Given the description of an element on the screen output the (x, y) to click on. 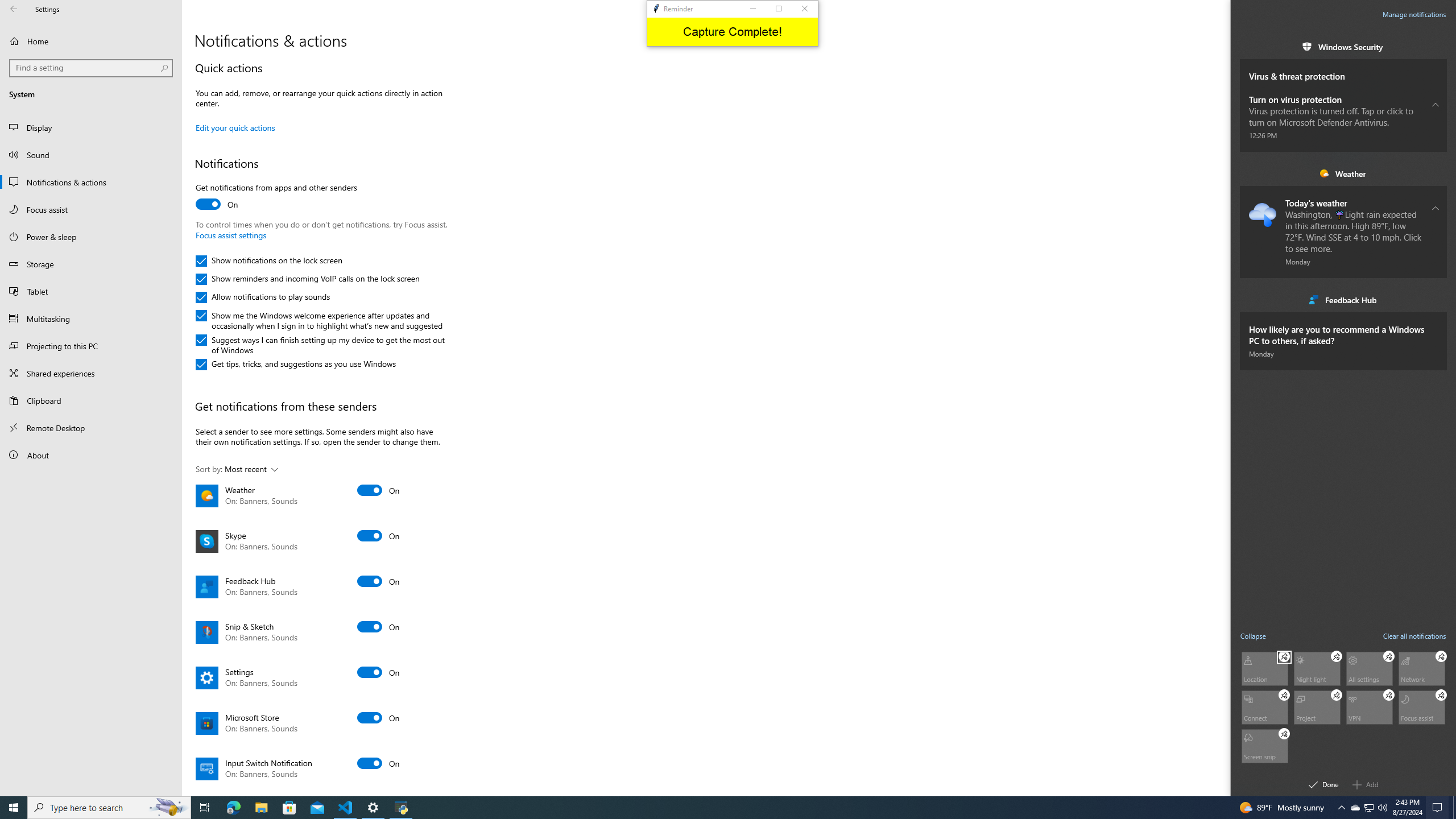
Network Unpin (1441, 655)
Project (1316, 706)
Search highlights icon opens search home window (167, 807)
Collapse quick actions (1253, 635)
Show desktop (1454, 807)
Screen snip Unpin (1284, 733)
Q2790: 100% (1355, 807)
Task View (1382, 807)
User Promoted Notification Area (204, 807)
Clear all notifications for Weather (1368, 807)
Clear all notifications (1435, 173)
Night light (1415, 635)
